Given the description of an element on the screen output the (x, y) to click on. 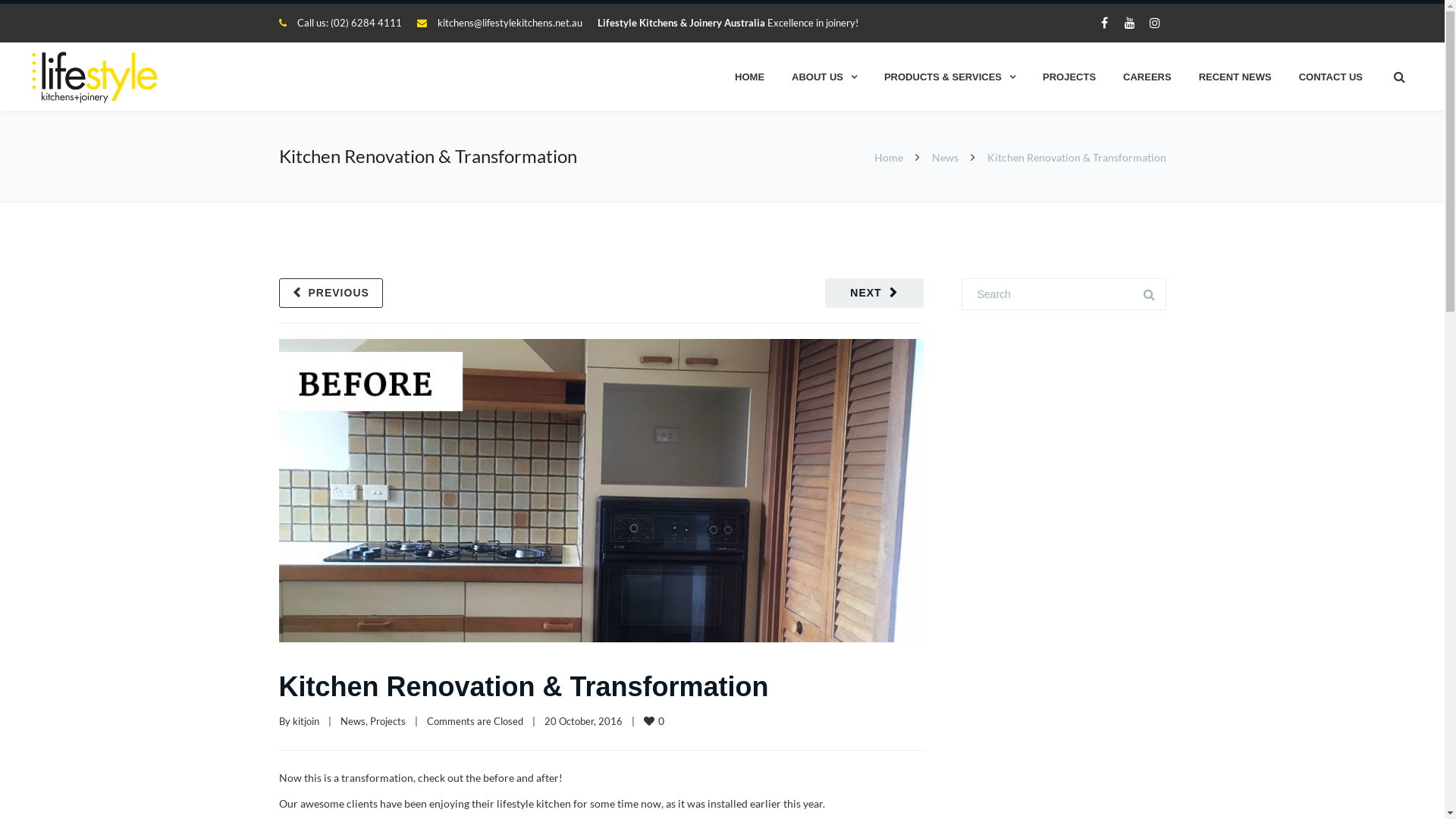
Home Element type: text (887, 156)
CAREERS Element type: text (1147, 76)
PREVIOUS Element type: text (330, 292)
kitjoin Element type: text (305, 721)
Kitchen Renovation & Transformation Element type: text (523, 686)
PRODUCTS & SERVICES Element type: text (949, 76)
Projects Element type: text (387, 721)
kitchens@lifestylekitchens.net.au Element type: text (508, 22)
NEXT Element type: text (874, 292)
Lifestyle Kitchens & Joinery Element type: hover (96, 77)
ABOUT US Element type: text (823, 76)
PROJECTS Element type: text (1068, 76)
News Element type: text (944, 156)
News Element type: text (351, 721)
(02) 6284 4111 Element type: text (365, 22)
RECENT NEWS Element type: text (1234, 76)
CONTACT US Element type: text (1330, 76)
HOME Element type: text (749, 76)
0  Element type: text (654, 720)
